Given the description of an element on the screen output the (x, y) to click on. 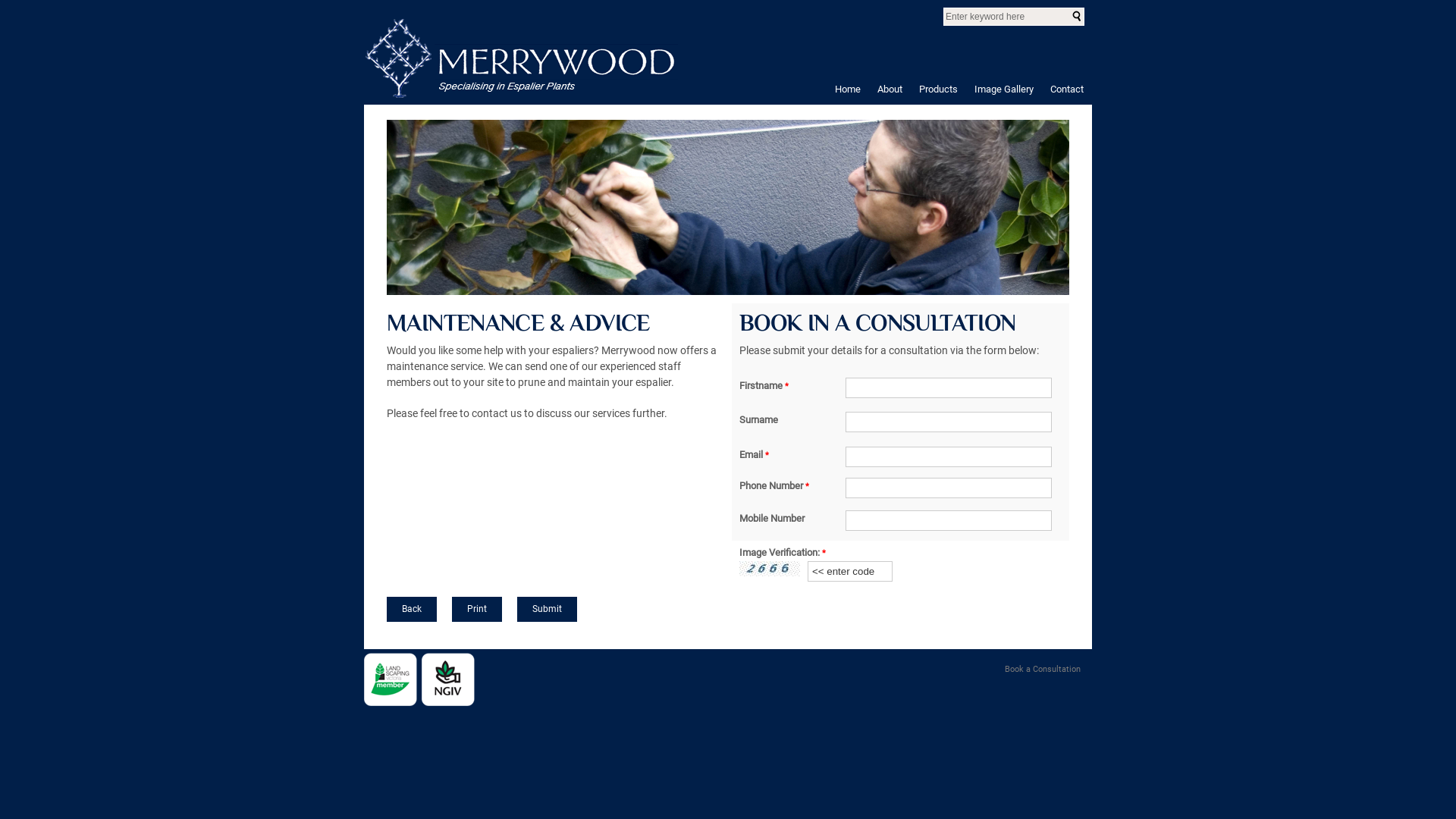
Print Element type: text (476, 608)
Back Element type: text (411, 608)
Search Element type: hover (1076, 15)
Contact Merrywood Plants Element type: hover (734, 206)
NGIV Member Element type: hover (447, 679)
Image Gallery Element type: text (1003, 87)
Products Element type: text (938, 87)
Book a Consultation Element type: text (1042, 669)
Landscaping Victoria Member Element type: hover (390, 679)
About Element type: text (889, 87)
Submit Element type: text (547, 608)
Home Element type: text (847, 87)
Contact Element type: text (1066, 87)
